Given the description of an element on the screen output the (x, y) to click on. 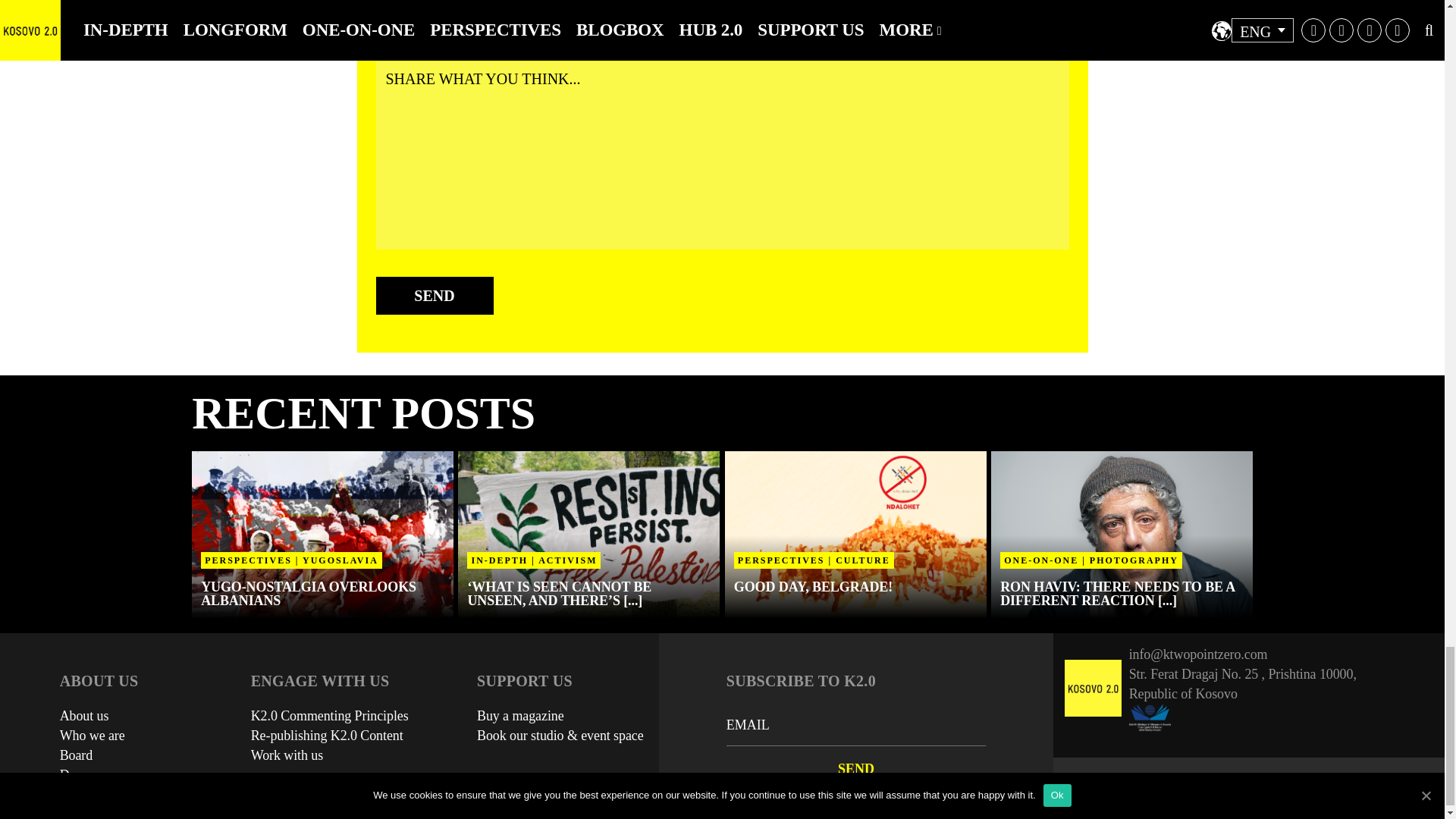
Send (434, 295)
Send (855, 768)
